Given the description of an element on the screen output the (x, y) to click on. 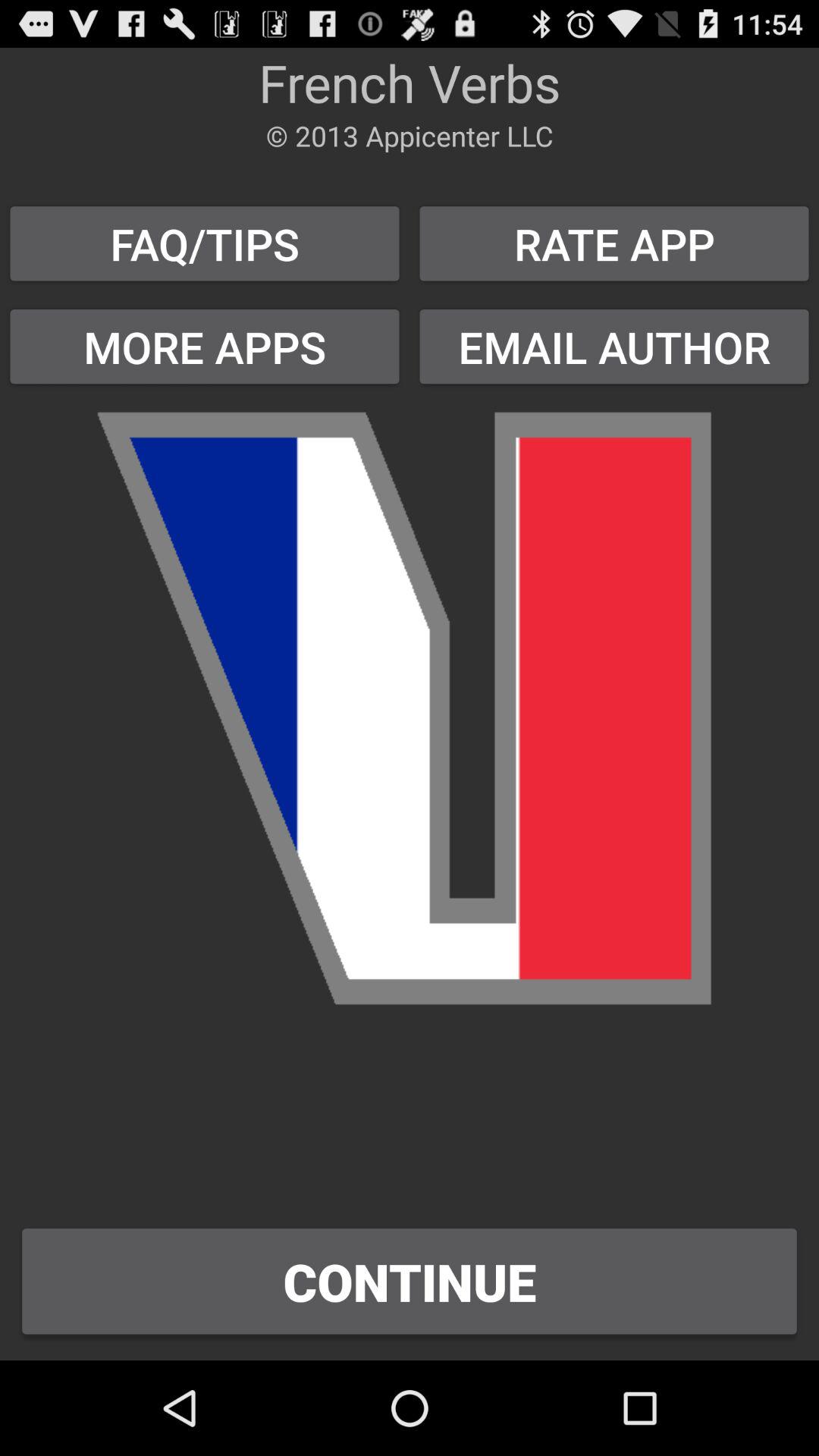
click the continue item (409, 1281)
